Given the description of an element on the screen output the (x, y) to click on. 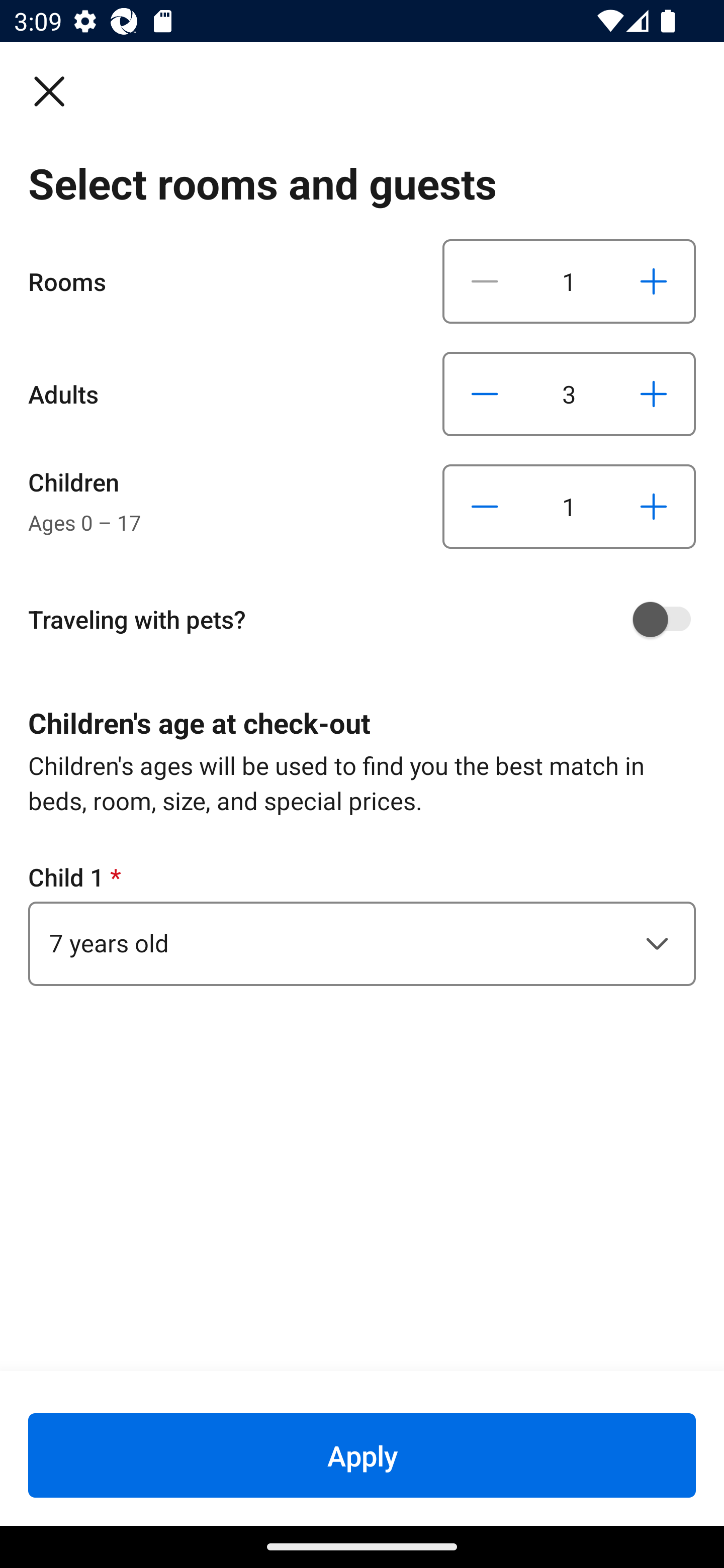
Decrease (484, 281)
Increase (653, 281)
Decrease (484, 393)
Increase (653, 393)
Decrease (484, 506)
Increase (653, 506)
Traveling with pets? (369, 619)
Child 1
required Child 1 * 7 years old (361, 922)
Apply (361, 1454)
